Given the description of an element on the screen output the (x, y) to click on. 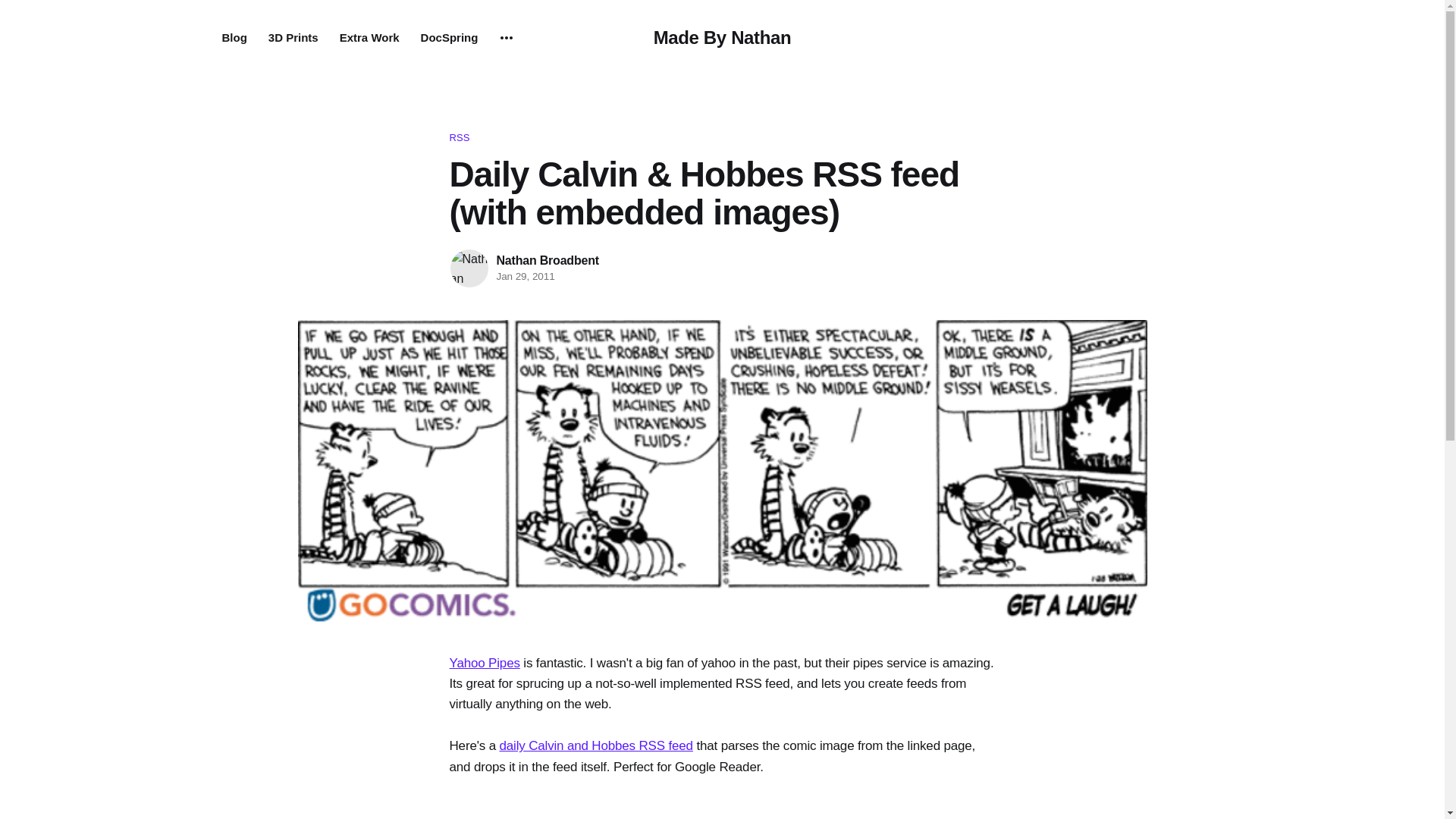
3D Prints (292, 37)
Extra Work (368, 37)
DocSpring (449, 37)
Made By Nathan (722, 37)
RSS (721, 138)
Calvin and Hobbes RSS (596, 745)
Yahoo Pipes (483, 663)
Nathan Broadbent (547, 259)
Blog (233, 37)
daily Calvin and Hobbes RSS feed (596, 745)
